Given the description of an element on the screen output the (x, y) to click on. 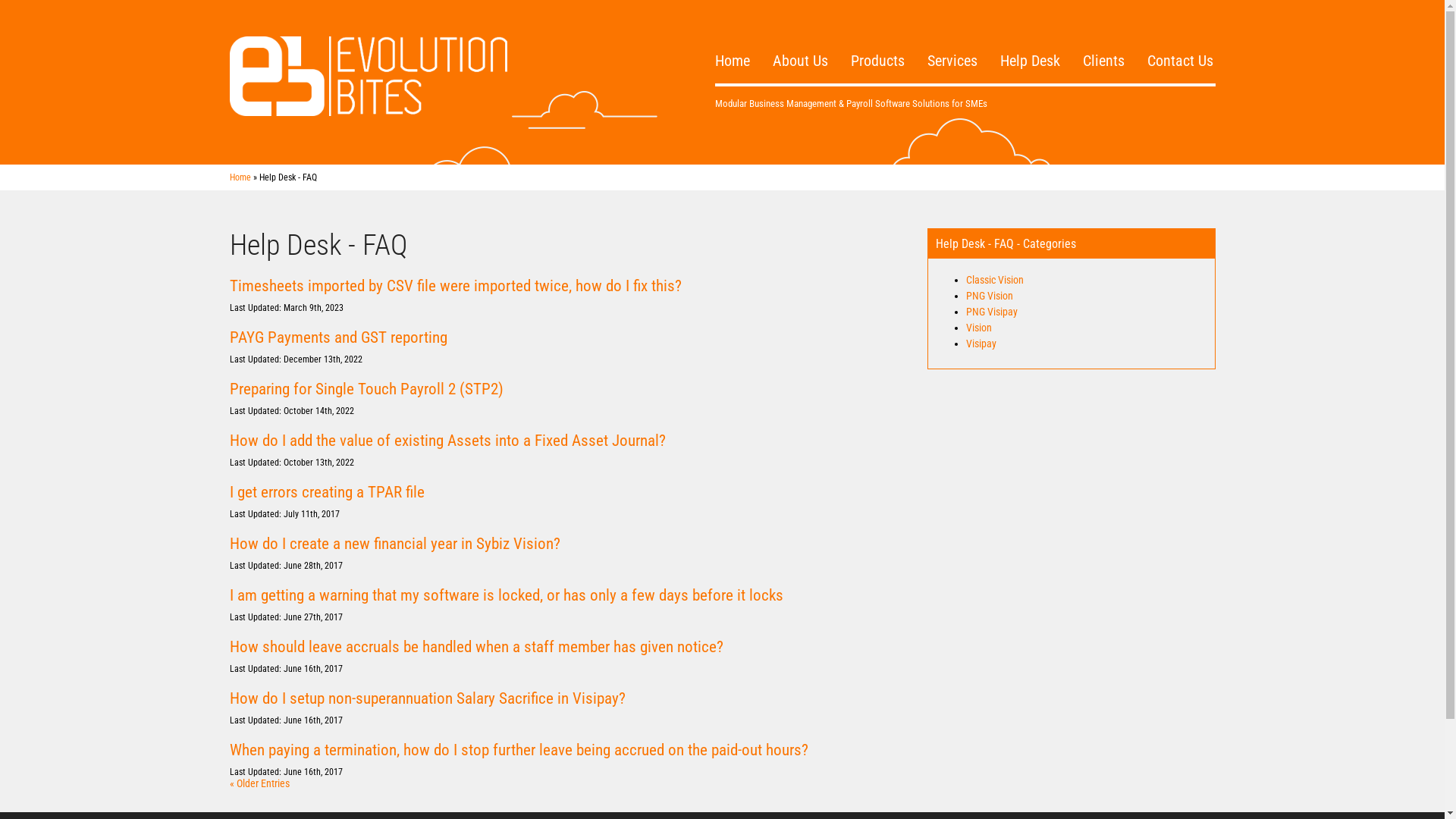
Clients Element type: text (1103, 34)
Visipay Element type: text (981, 343)
Preparing for Single Touch Payroll 2 (STP2) Element type: text (365, 388)
PNG Vision Element type: text (989, 295)
Home Element type: text (239, 177)
Help Desk Element type: text (1029, 34)
PNG Visipay Element type: text (991, 311)
Products Element type: text (877, 34)
I get errors creating a TPAR file Element type: text (326, 492)
How do I create a new financial year in Sybiz Vision? Element type: text (394, 543)
Services Element type: text (951, 34)
Evolution Bites Element type: hover (367, 88)
About Us Element type: text (799, 34)
Classic Vision Element type: text (994, 279)
PAYG Payments and GST reporting Element type: text (337, 337)
Home Element type: text (731, 34)
Contact Us Element type: text (1179, 34)
Vision Element type: text (978, 327)
